Given the description of an element on the screen output the (x, y) to click on. 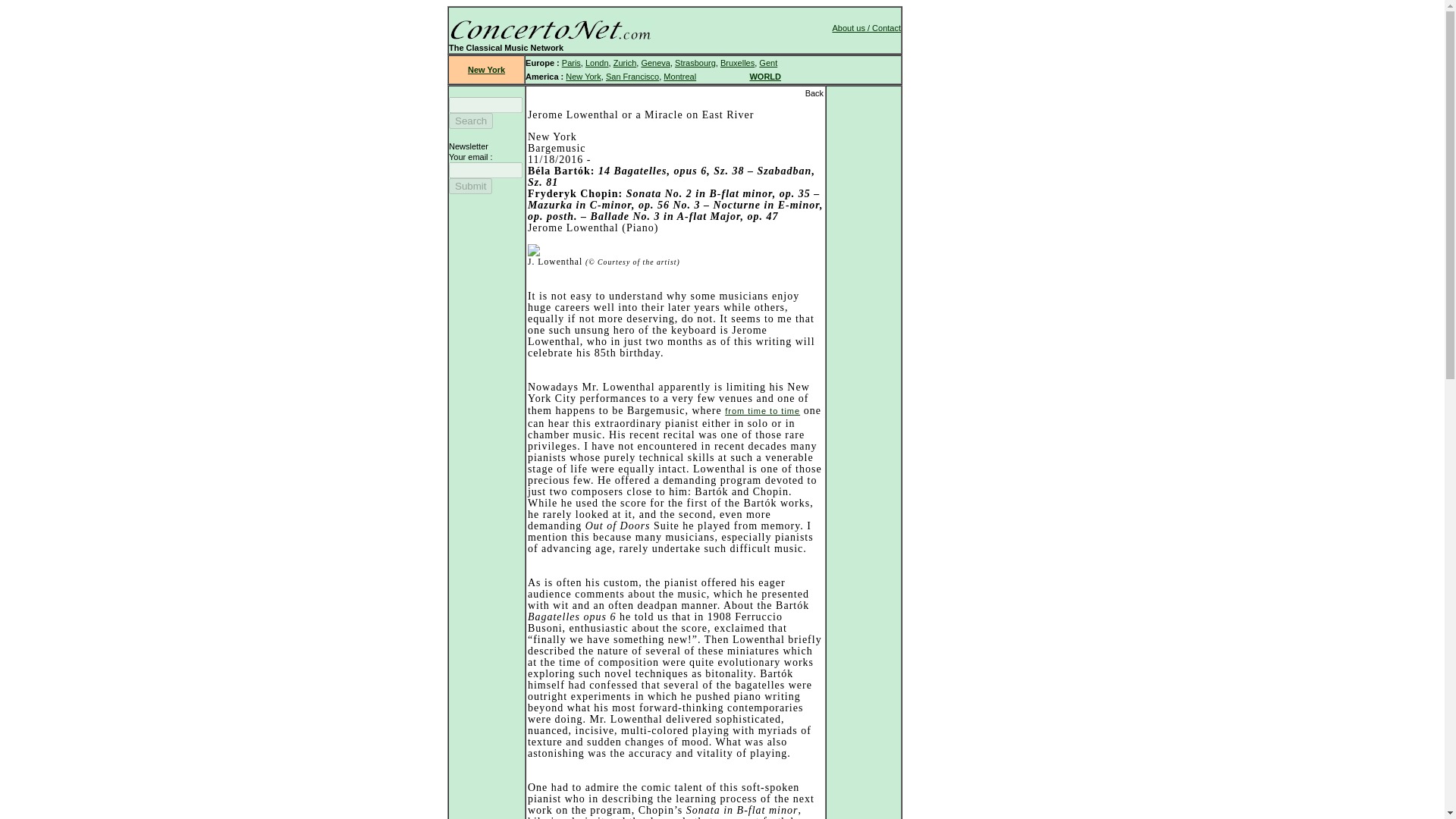
Back (814, 92)
New York (486, 69)
Bruxelles (737, 62)
WORLD (764, 76)
Gent (767, 62)
Londn (596, 62)
Strasbourg (695, 62)
Paris (571, 62)
Montreal (679, 76)
Geneva (654, 62)
Search (470, 120)
Submit (470, 186)
Search (470, 120)
from time to time (762, 410)
Zurich (624, 62)
